Given the description of an element on the screen output the (x, y) to click on. 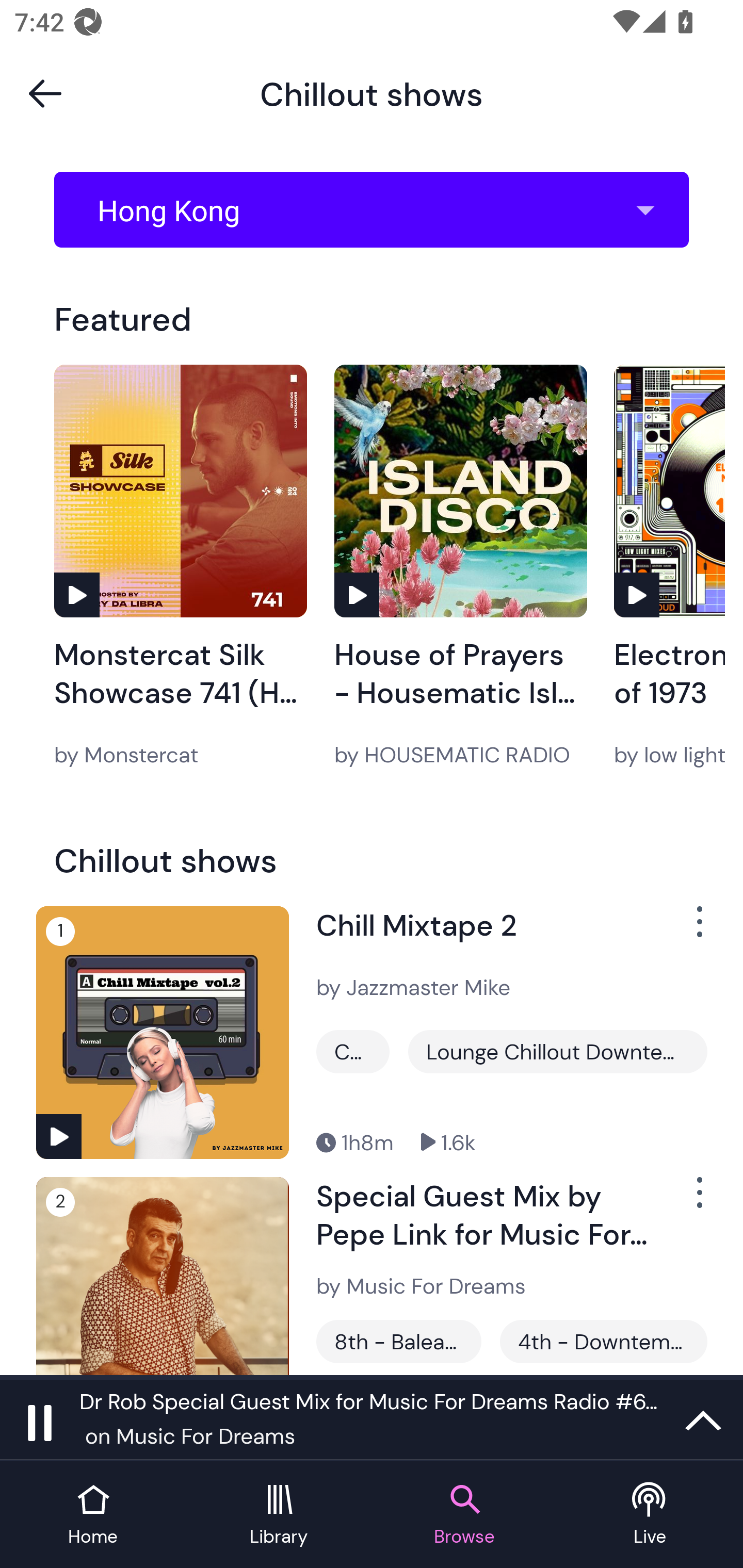
Hong Kong (378, 209)
Show Options Menu Button (697, 929)
Chill (352, 1052)
Lounge Chillout Downtempo (556, 1052)
Show Options Menu Button (697, 1200)
8th - Balearic (398, 1341)
4th - Downtempo (603, 1341)
Home tab Home (92, 1515)
Library tab Library (278, 1515)
Browse tab Browse (464, 1515)
Live tab Live (650, 1515)
